Given the description of an element on the screen output the (x, y) to click on. 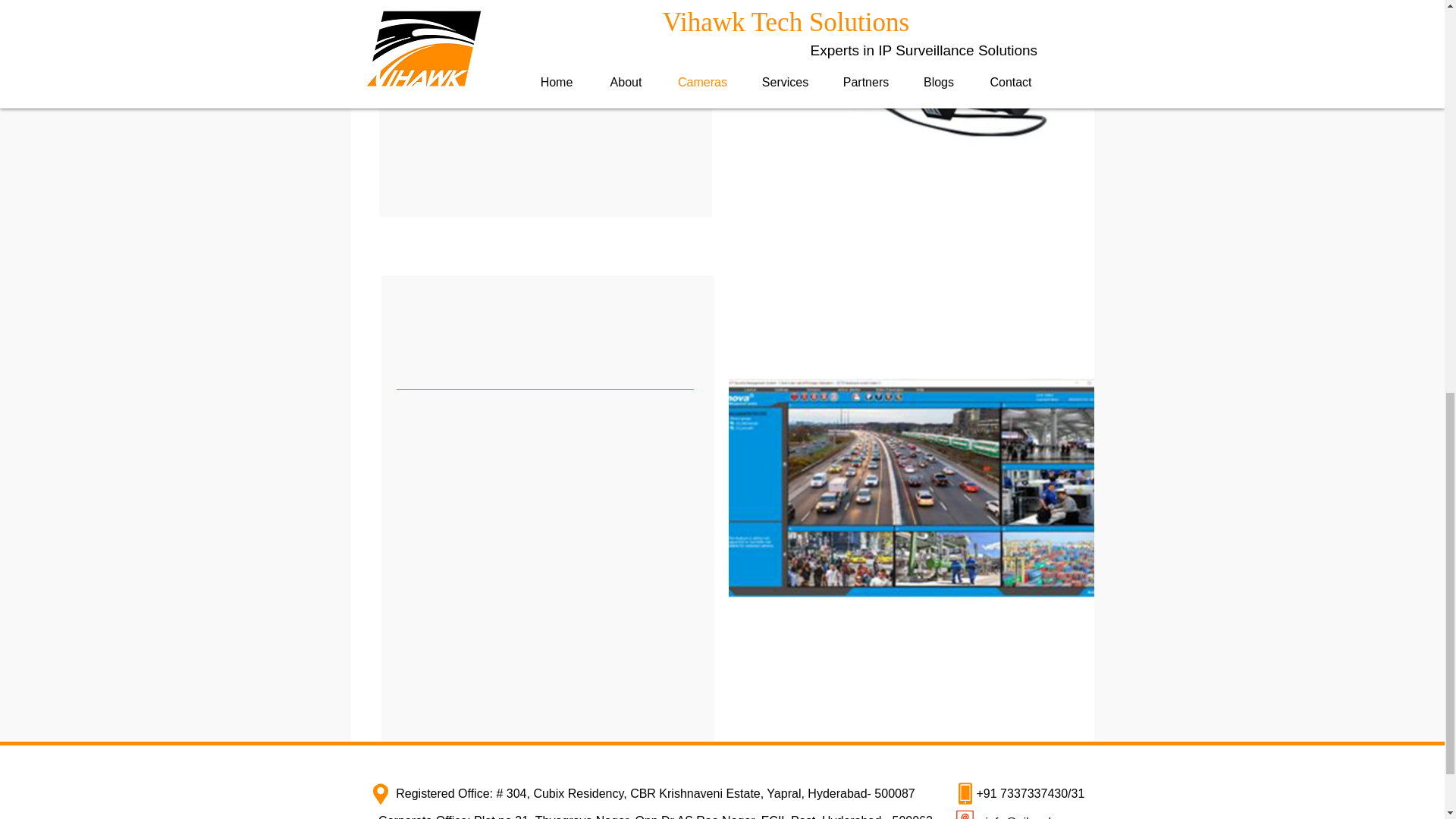
Rugged Cameras.jpg (899, 92)
PTZ Camera.jpg (910, 491)
